Given the description of an element on the screen output the (x, y) to click on. 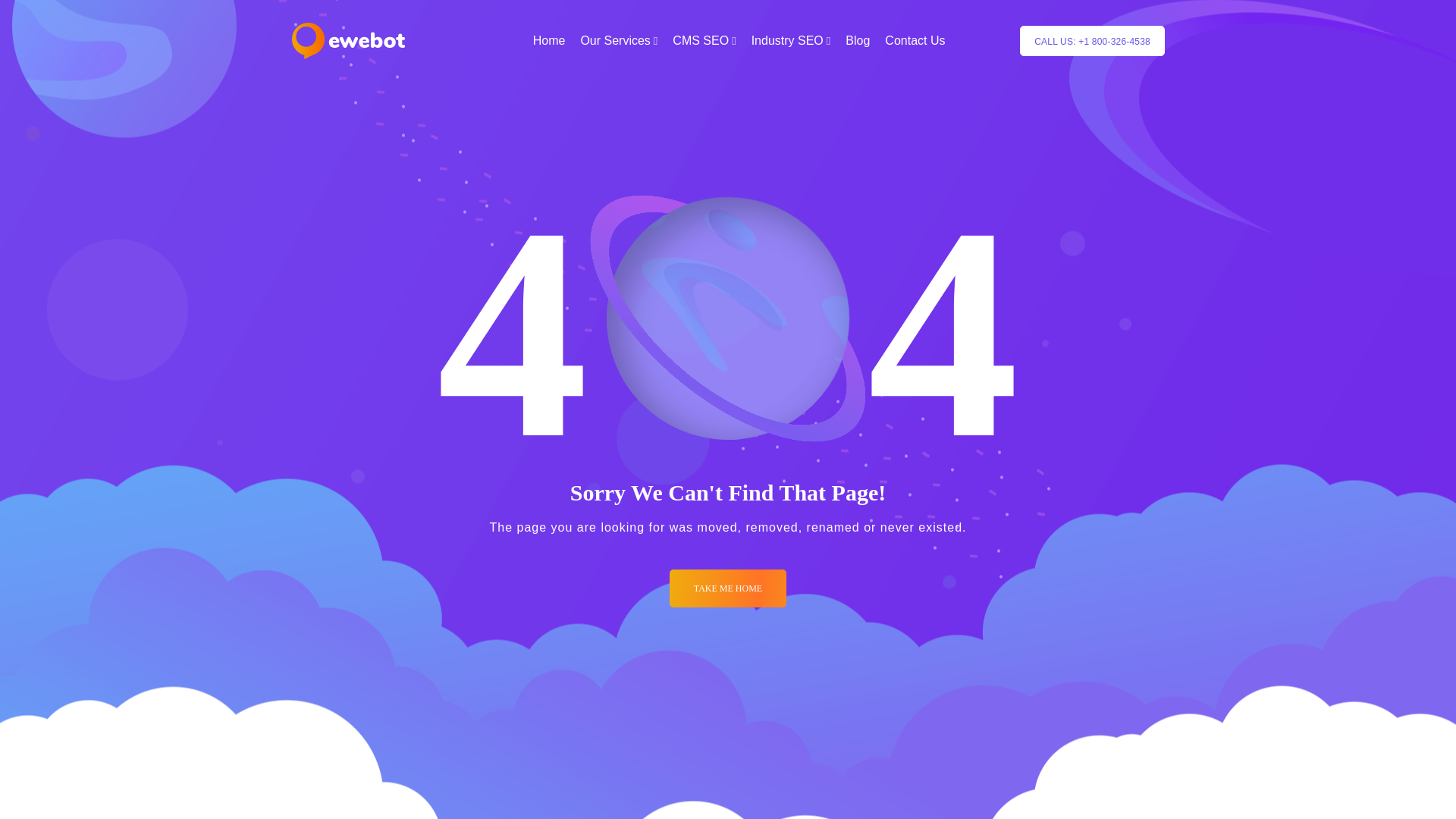
Our Services (618, 40)
CMS SEO (703, 40)
